Given the description of an element on the screen output the (x, y) to click on. 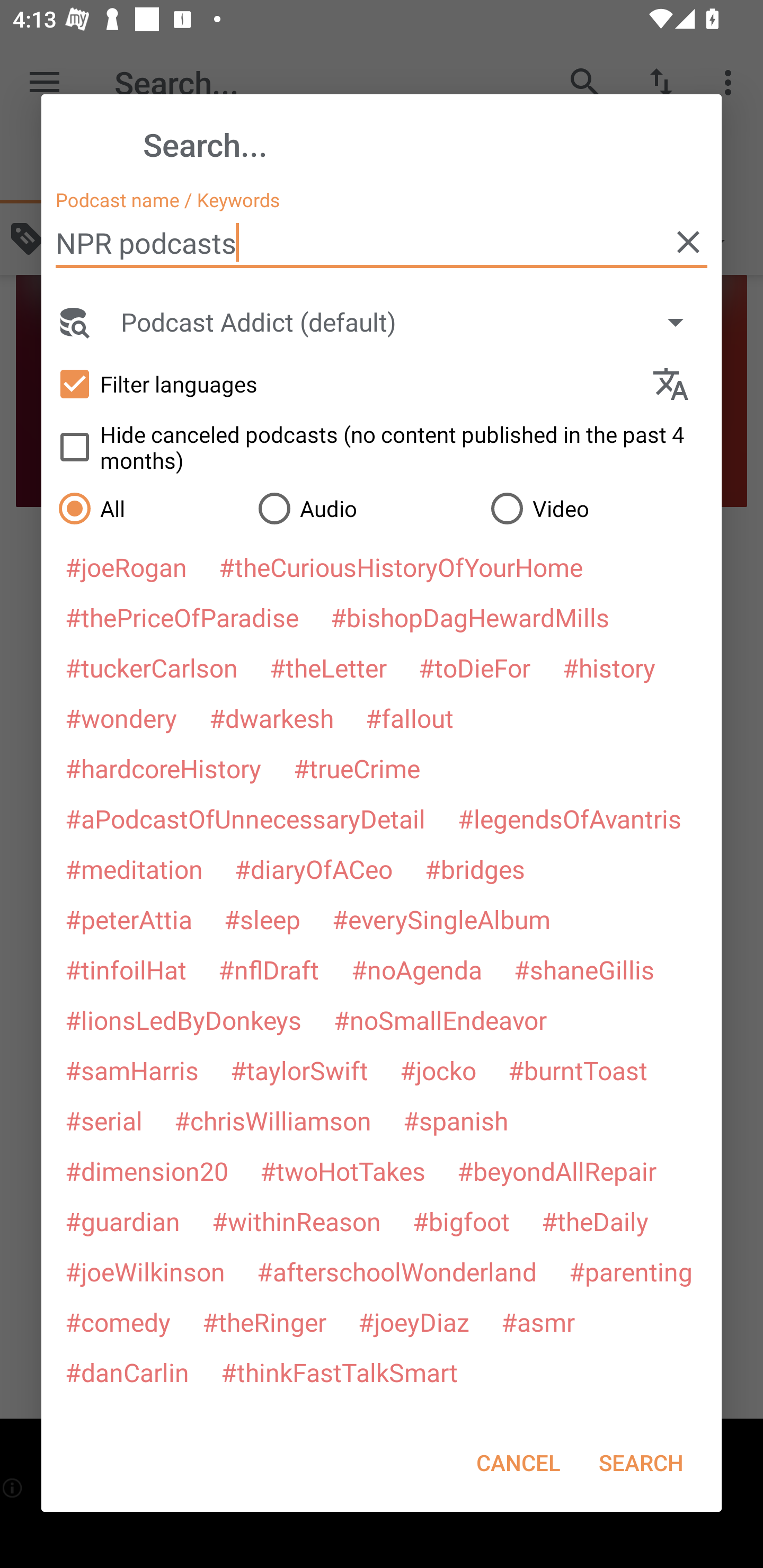
NPR podcasts (381, 242)
Search Engine (73, 321)
Podcast Addict (default) (410, 321)
Languages selection (678, 383)
Filter languages (346, 384)
All (148, 508)
Audio (364, 508)
Video (597, 508)
#joeRogan (125, 567)
#theCuriousHistoryOfYourHome (400, 567)
#thePriceOfParadise (181, 617)
#bishopDagHewardMills (469, 617)
#tuckerCarlson (151, 667)
#theLetter (327, 667)
#toDieFor (474, 667)
#history (609, 667)
#wondery (120, 717)
#dwarkesh (271, 717)
#fallout (409, 717)
#hardcoreHistory (162, 768)
#trueCrime (356, 768)
#aPodcastOfUnnecessaryDetail (244, 818)
#legendsOfAvantris (569, 818)
#meditation (133, 868)
#diaryOfACeo (313, 868)
#bridges (474, 868)
#peterAttia (128, 918)
#sleep (262, 918)
#everySingleAlbum (440, 918)
#tinfoilHat (125, 968)
#nflDraft (268, 968)
#noAgenda (416, 968)
#shaneGillis (584, 968)
#lionsLedByDonkeys (183, 1019)
#noSmallEndeavor (440, 1019)
#samHarris (131, 1070)
#taylorSwift (299, 1070)
#jocko (437, 1070)
#burntToast (577, 1070)
#serial (103, 1120)
#chrisWilliamson (272, 1120)
#spanish (455, 1120)
#dimension20 (146, 1171)
#twoHotTakes (342, 1171)
#beyondAllRepair (556, 1171)
#guardian (122, 1221)
#withinReason (296, 1221)
#bigfoot (460, 1221)
#theDaily (594, 1221)
#joeWilkinson (144, 1271)
#afterschoolWonderland (397, 1271)
#parenting (630, 1271)
#comedy (117, 1321)
#theRinger (264, 1321)
#joeyDiaz (413, 1321)
#asmr (537, 1321)
#danCarlin (126, 1371)
#thinkFastTalkSmart (339, 1371)
CANCEL (518, 1462)
SEARCH (640, 1462)
